Given the description of an element on the screen output the (x, y) to click on. 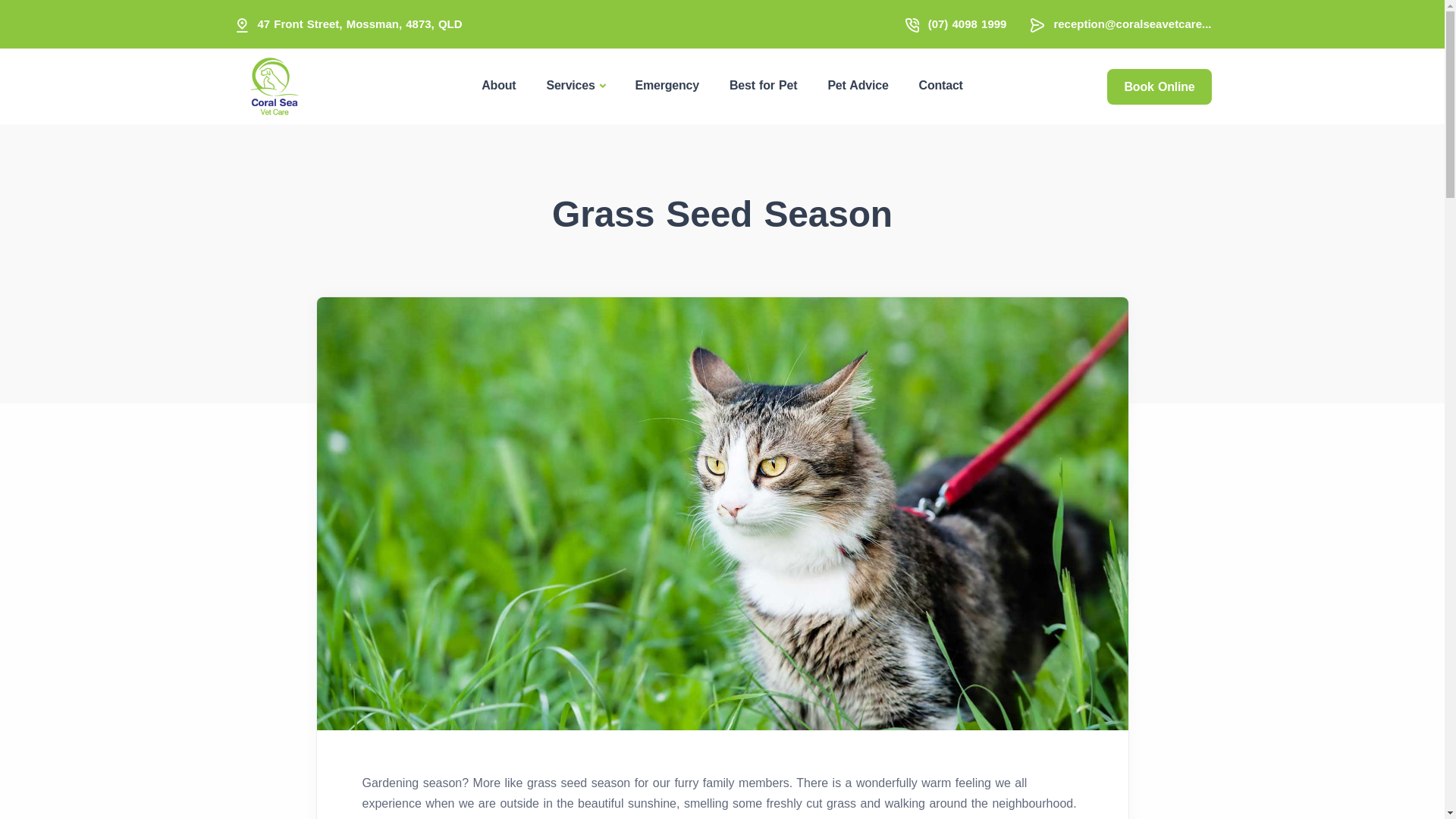
Services Element type: text (574, 86)
About Element type: text (498, 84)
reception@coralseavetcare... Element type: text (1132, 23)
Emergency Element type: text (667, 84)
Best for Pet Element type: text (763, 84)
(07) 4098 1999 Element type: text (967, 23)
Book Online Element type: text (1159, 86)
Contact Element type: text (940, 84)
Pet Advice Element type: text (857, 84)
47 Front Street, Mossman, 4873, QLD Element type: text (359, 23)
